Given the description of an element on the screen output the (x, y) to click on. 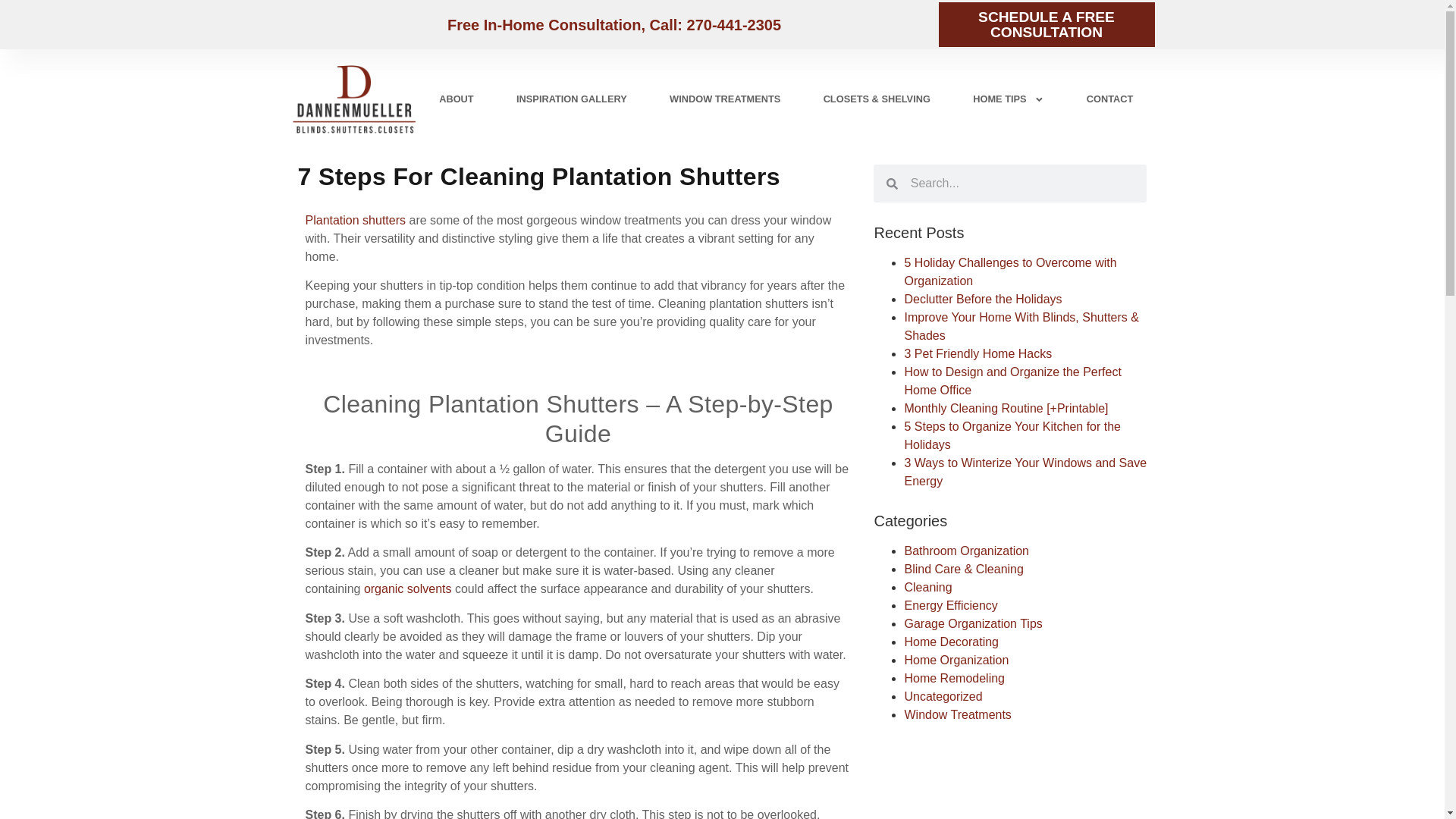
Home Organization (956, 659)
HOME TIPS (1008, 98)
Plantation shutters (355, 219)
3 Ways to Winterize Your Windows and Save Energy (1025, 471)
Free In-Home Consultation, Call: 270-441-2305 (613, 24)
Declutter Before the Holidays (982, 298)
5 Holiday Challenges to Overcome with Organization (1010, 271)
Cleaning (928, 586)
3 Pet Friendly Home Hacks (977, 353)
Energy Efficiency (950, 604)
